Given the description of an element on the screen output the (x, y) to click on. 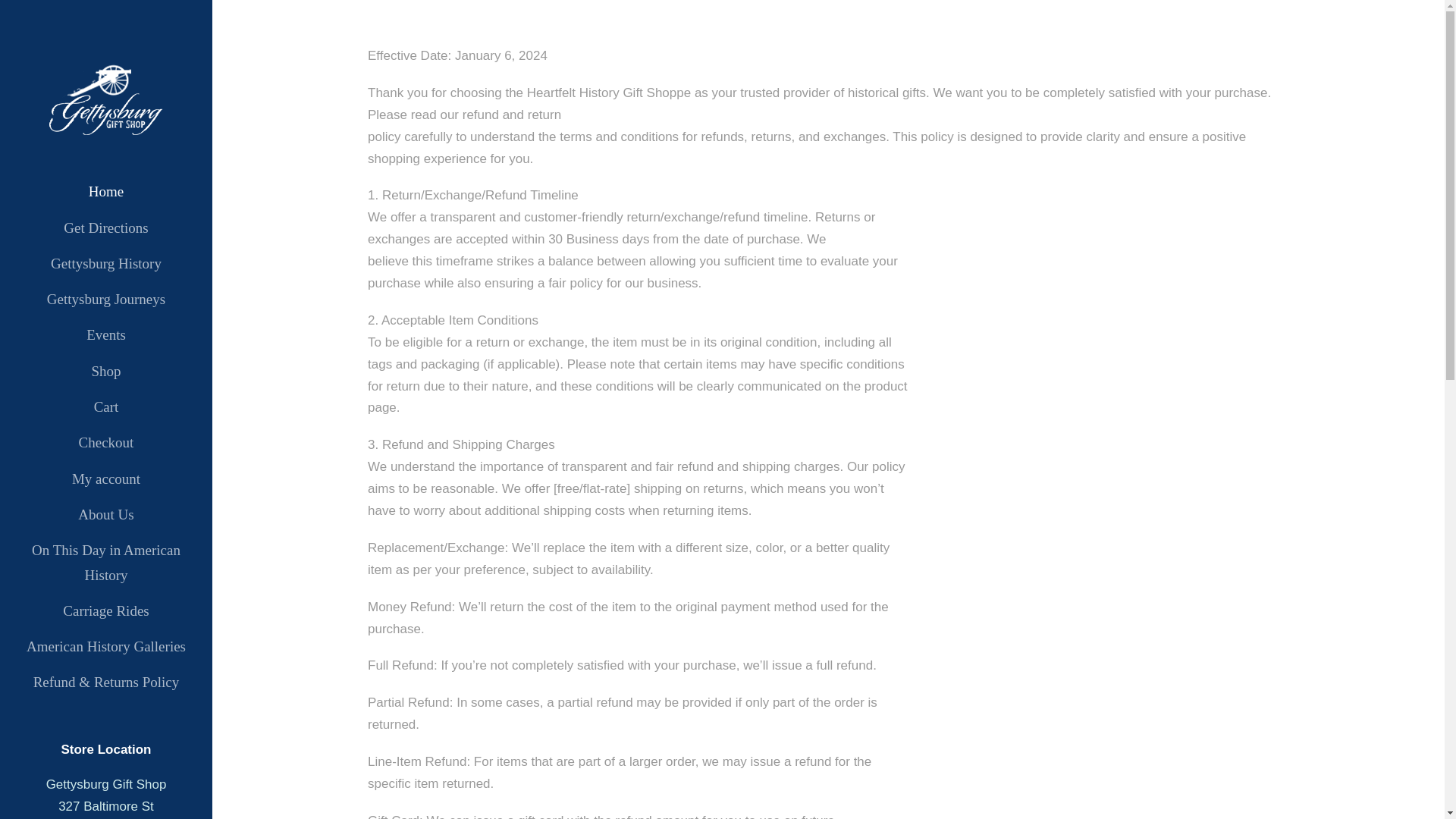
Get Directions (105, 228)
Carriage Rides (105, 610)
On This Day in American History (105, 563)
Events (105, 334)
American History Galleries (105, 646)
Gettysburg History (105, 263)
Gettysburg Journeys (105, 299)
About Us (105, 514)
Checkout (105, 442)
Home (105, 191)
Cart (105, 406)
Shop (105, 371)
My account (105, 478)
